Given the description of an element on the screen output the (x, y) to click on. 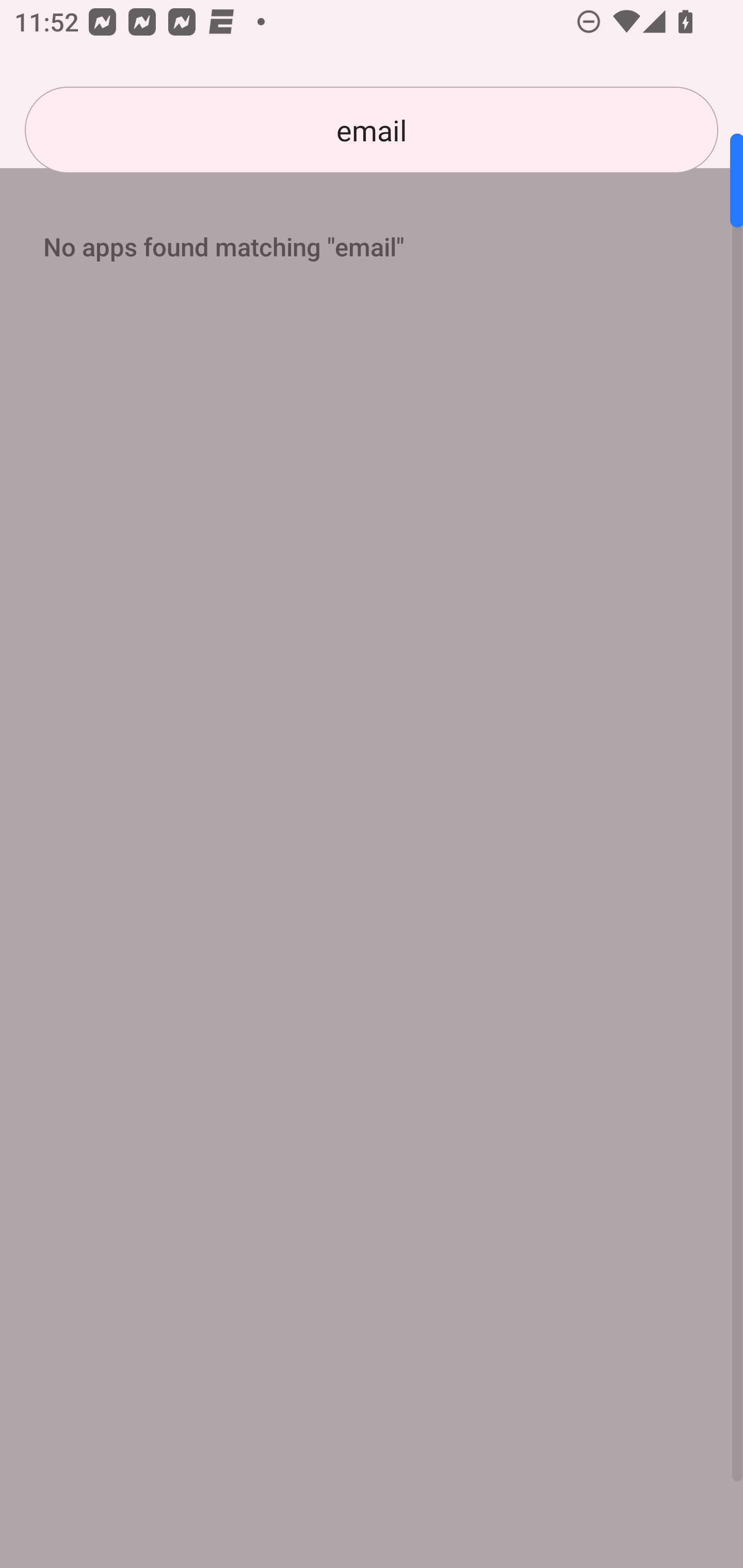
email (371, 130)
